Given the description of an element on the screen output the (x, y) to click on. 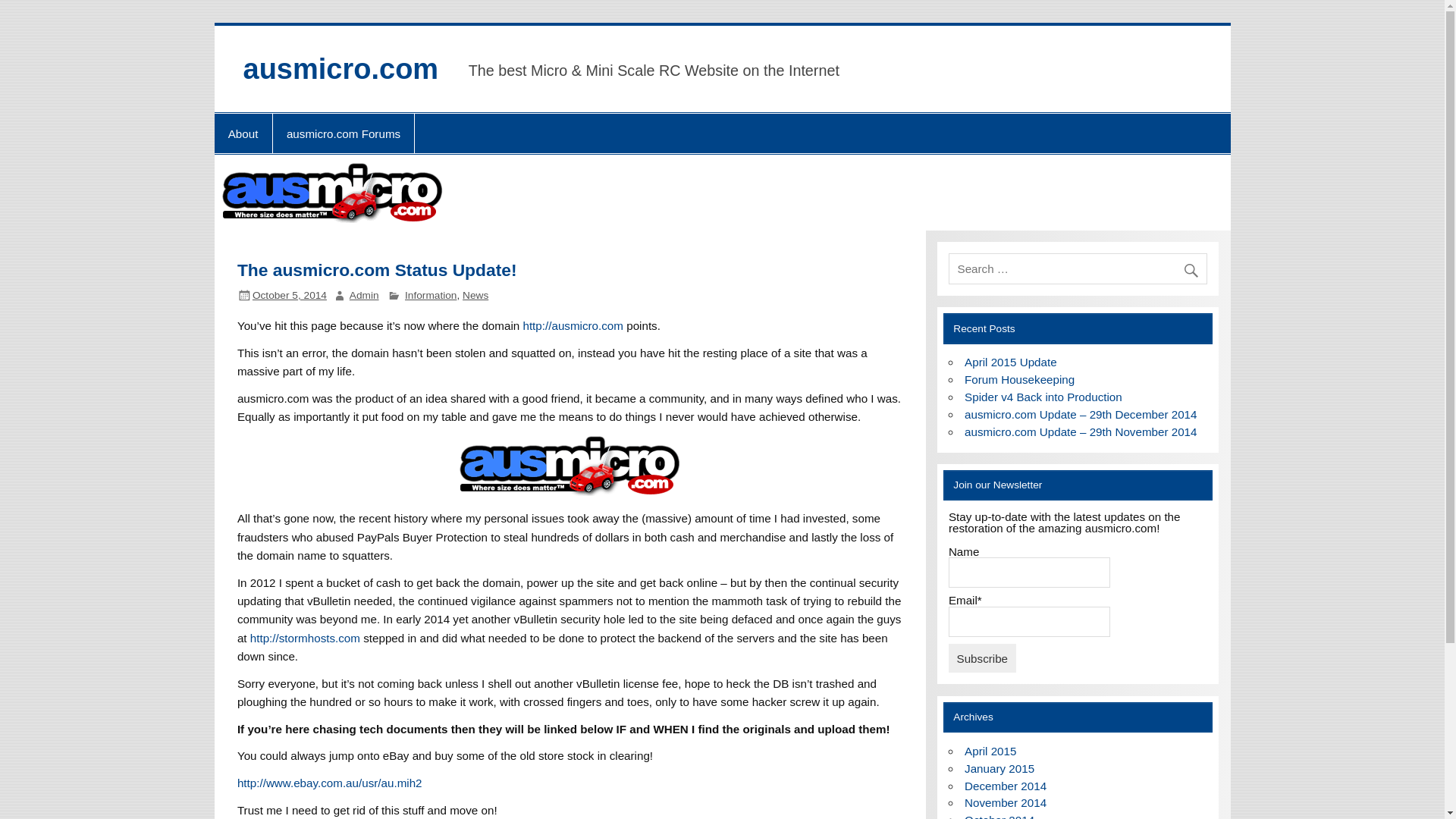
January 2015 (998, 768)
Information (430, 295)
ausmicro.com Forums (343, 133)
News (475, 295)
View all posts by Admin (363, 295)
Spider v4 Back into Production (1042, 396)
ausmicro.com (572, 325)
Stormhosts (304, 637)
Admin (363, 295)
Subscribe (982, 657)
